Given the description of an element on the screen output the (x, y) to click on. 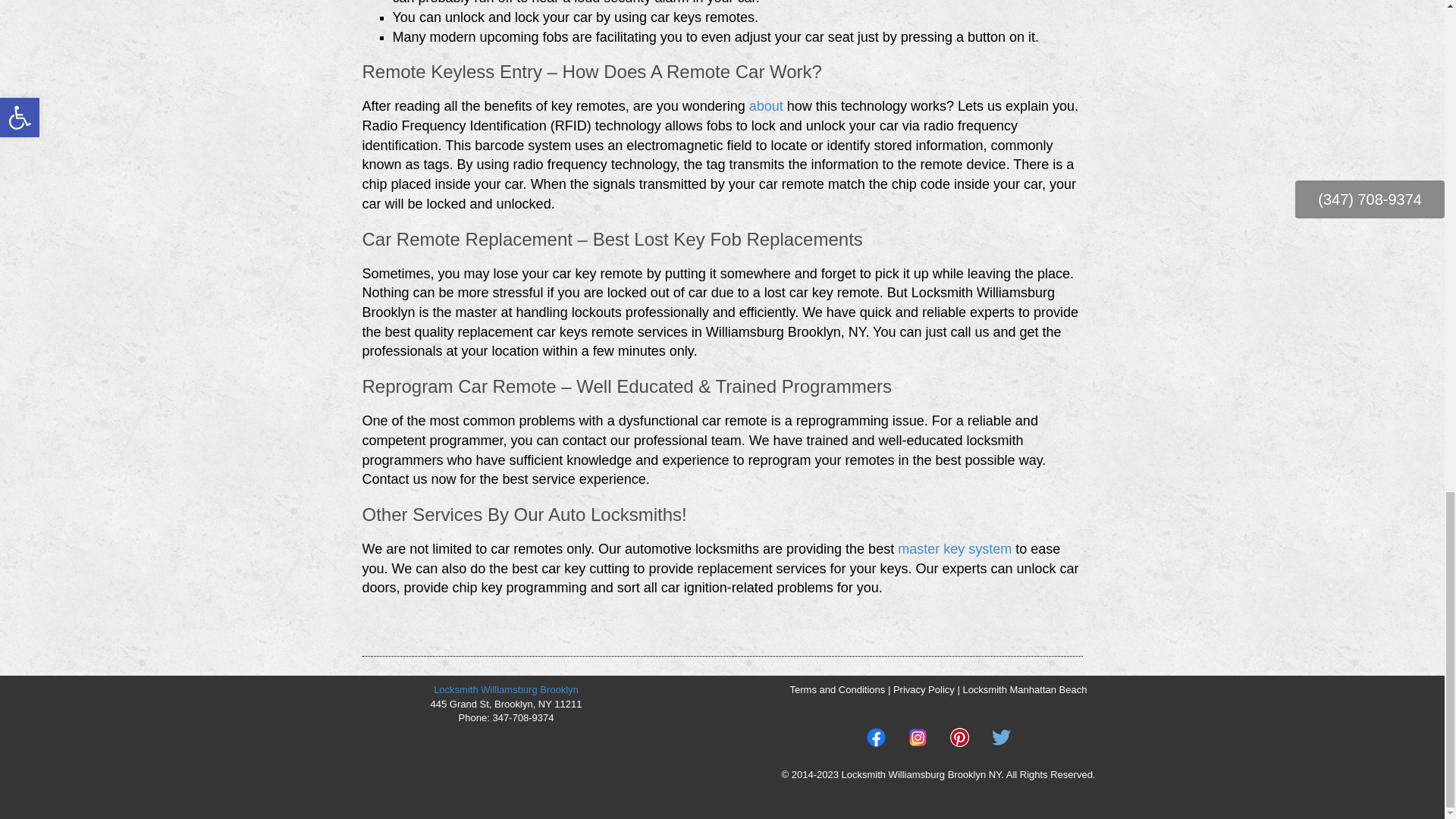
about (766, 105)
